Given the description of an element on the screen output the (x, y) to click on. 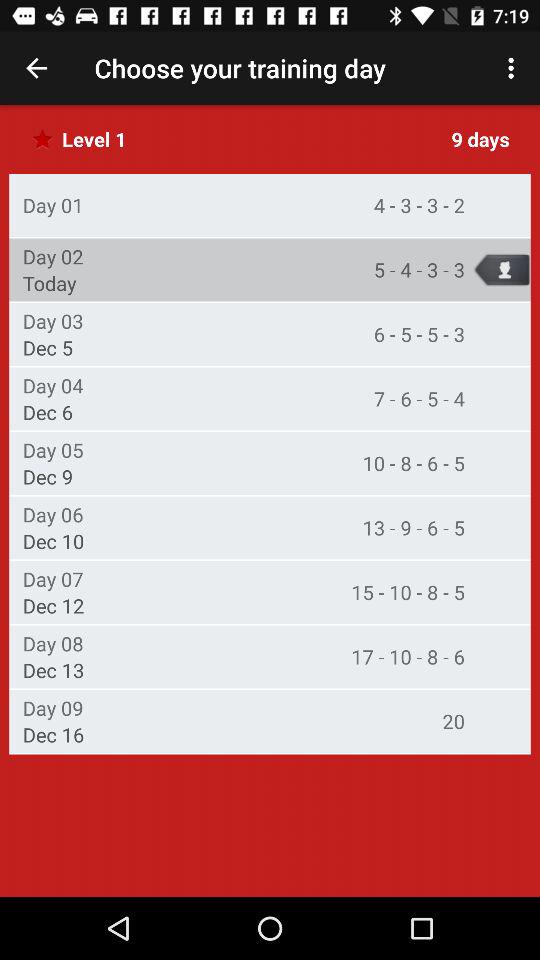
launch today icon (49, 283)
